Given the description of an element on the screen output the (x, y) to click on. 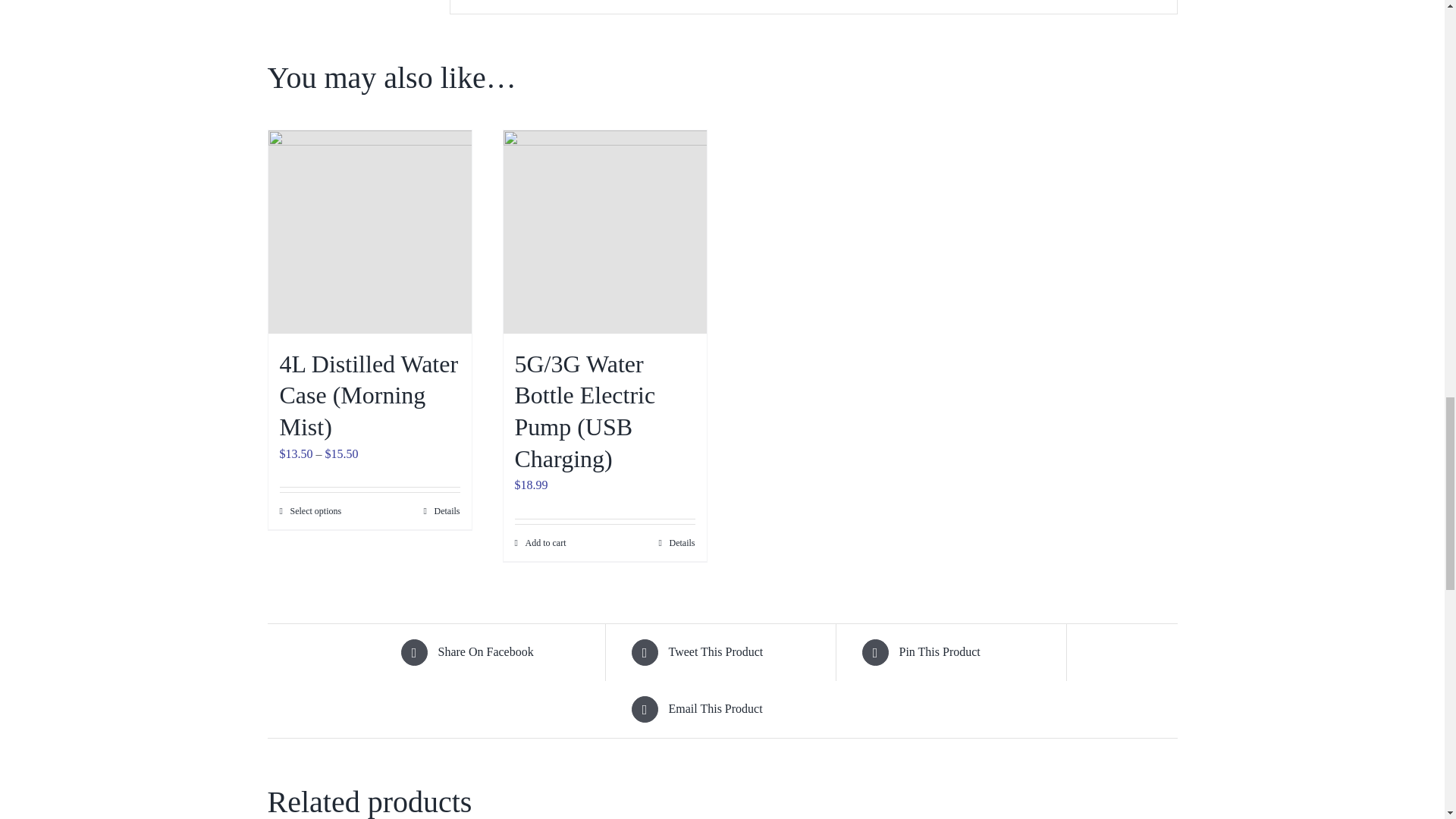
Share On Facebook (490, 652)
Add to cart (539, 542)
Select options (309, 510)
Details (676, 542)
Details (441, 510)
